Given the description of an element on the screen output the (x, y) to click on. 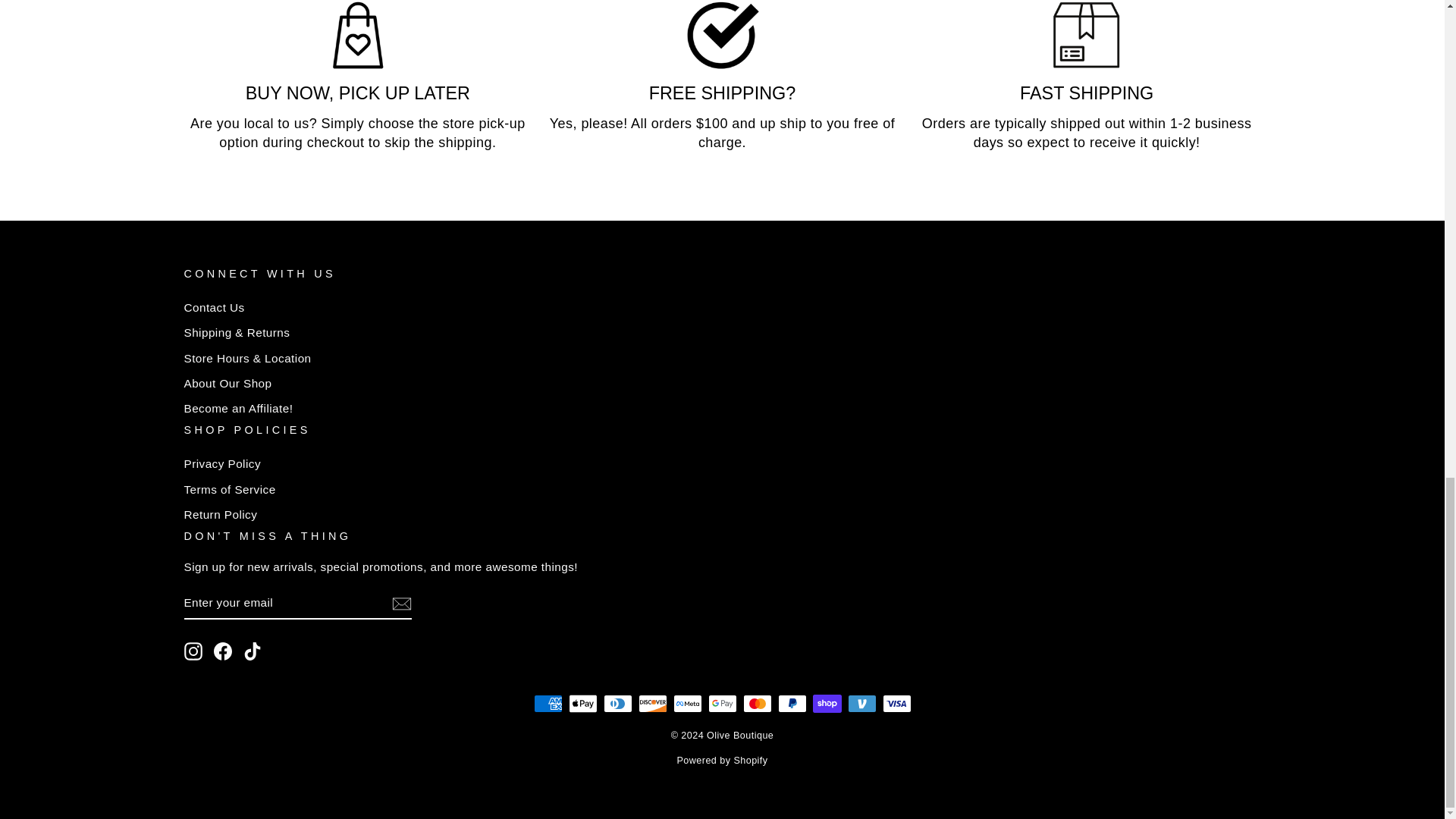
Olive Boutique on TikTok (251, 651)
Mastercard (756, 703)
Olive Boutique on Instagram (192, 651)
Apple Pay (582, 703)
Meta Pay (686, 703)
Google Pay (721, 703)
Diners Club (617, 703)
Discover (652, 703)
American Express (548, 703)
Olive Boutique on Facebook (222, 651)
